Given the description of an element on the screen output the (x, y) to click on. 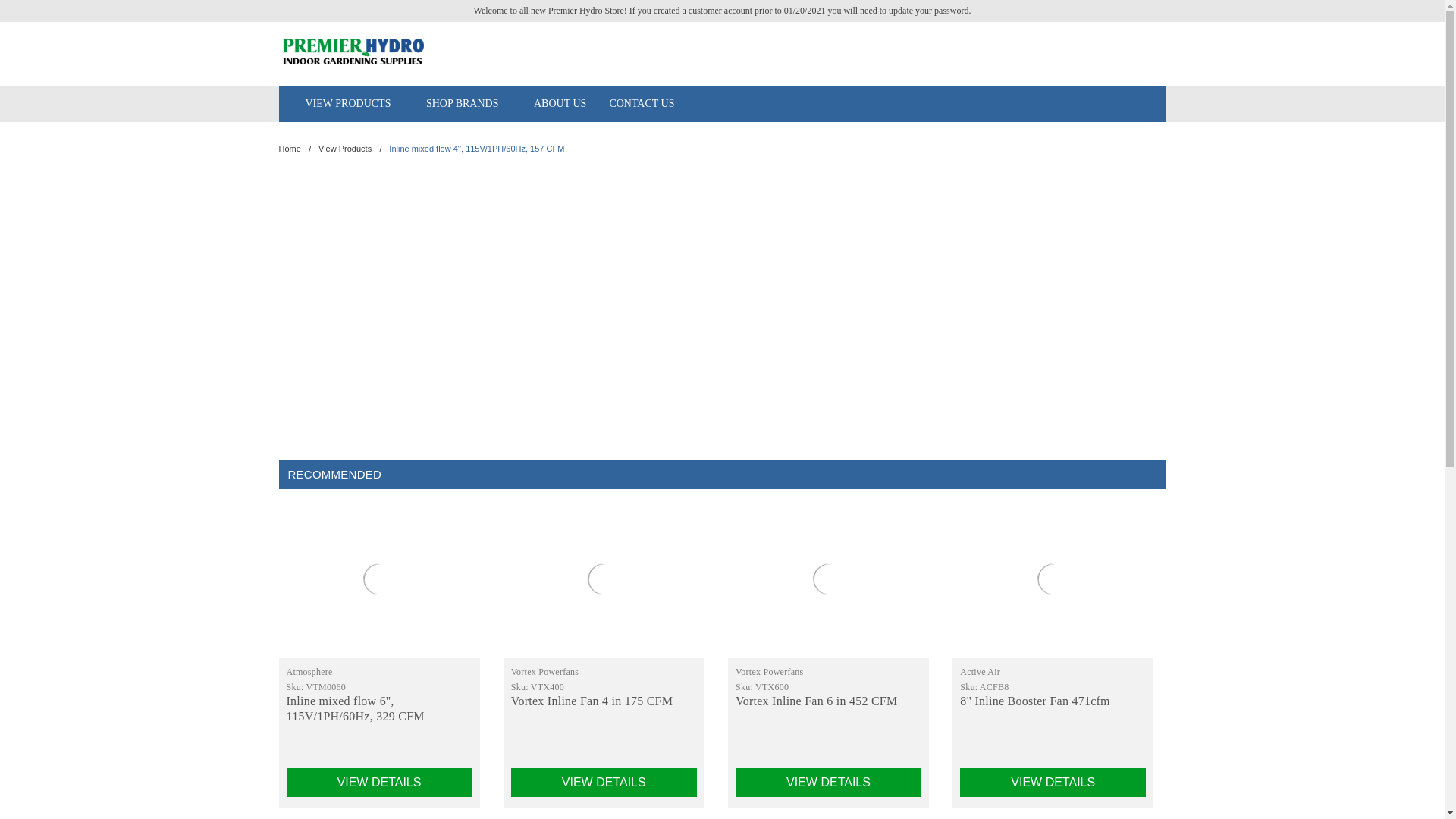
Vortex Inline Fan 4 in 175 CFM (604, 579)
Vortex Inline Fan 6 in 452 CFM (828, 579)
8" Inline Booster Fan 471cfm (1052, 579)
Premier Hydro (352, 51)
